Given the description of an element on the screen output the (x, y) to click on. 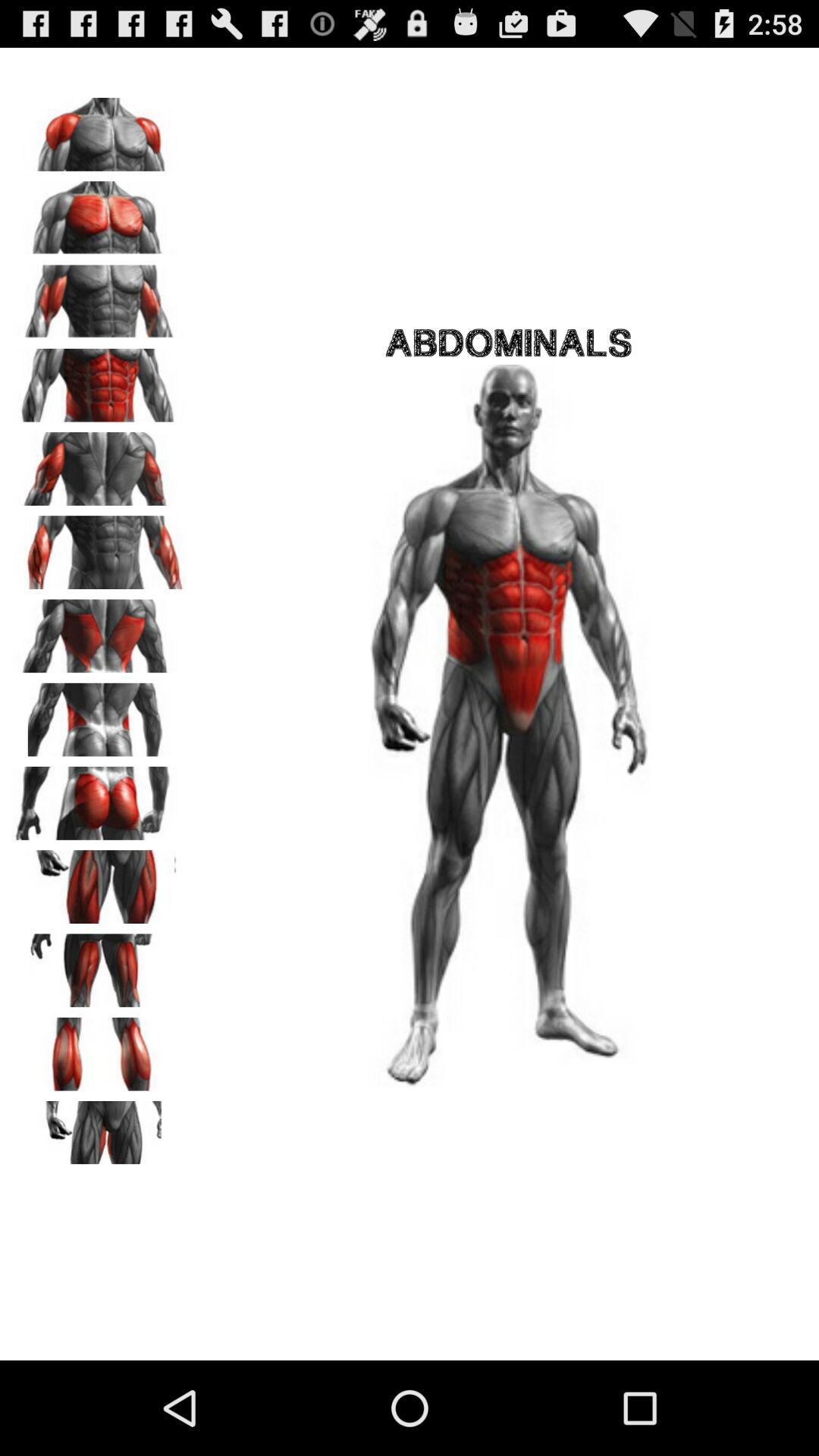
view thigh muscle (99, 881)
